Given the description of an element on the screen output the (x, y) to click on. 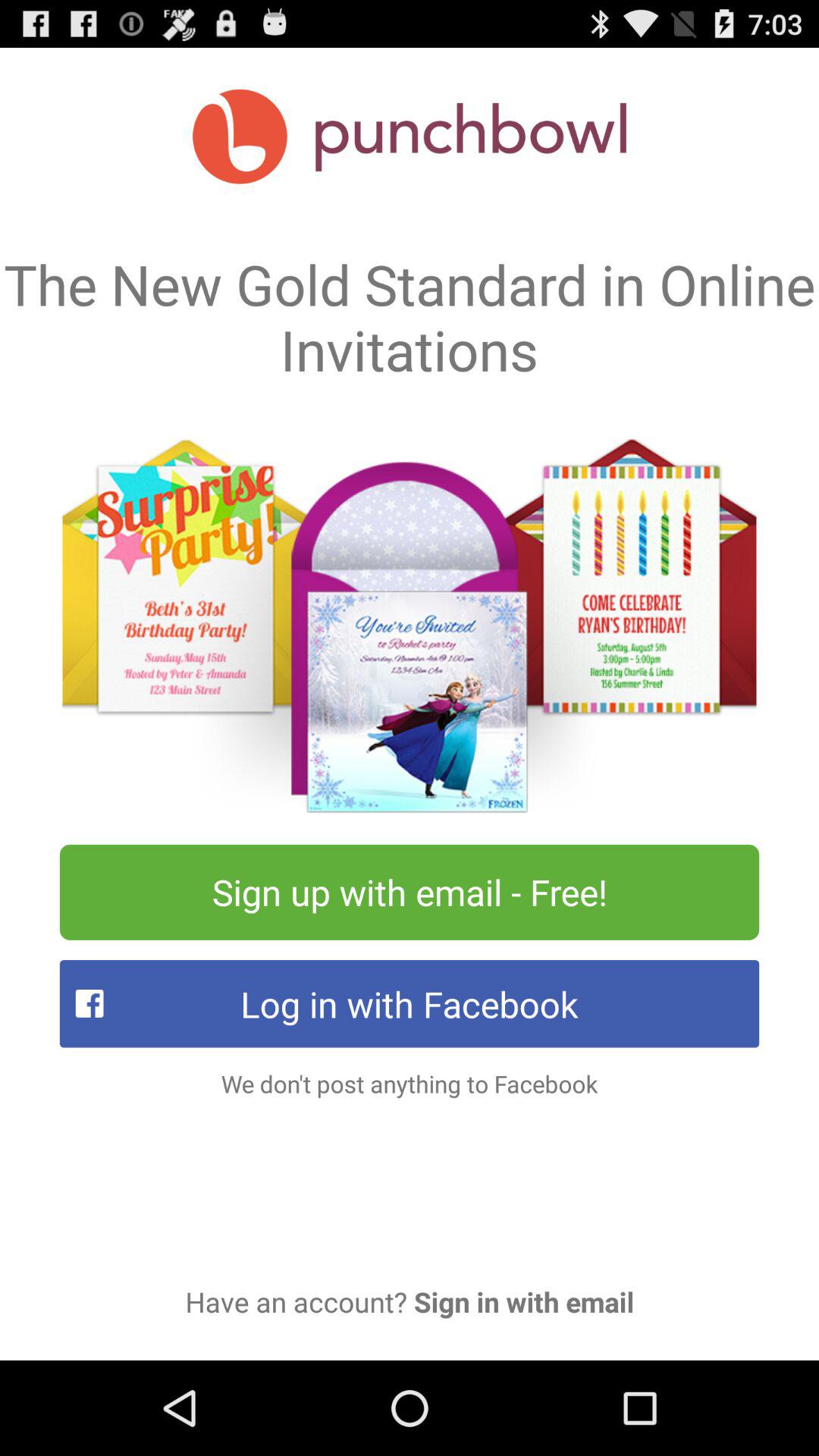
jump until have an account item (409, 1301)
